Given the description of an element on the screen output the (x, y) to click on. 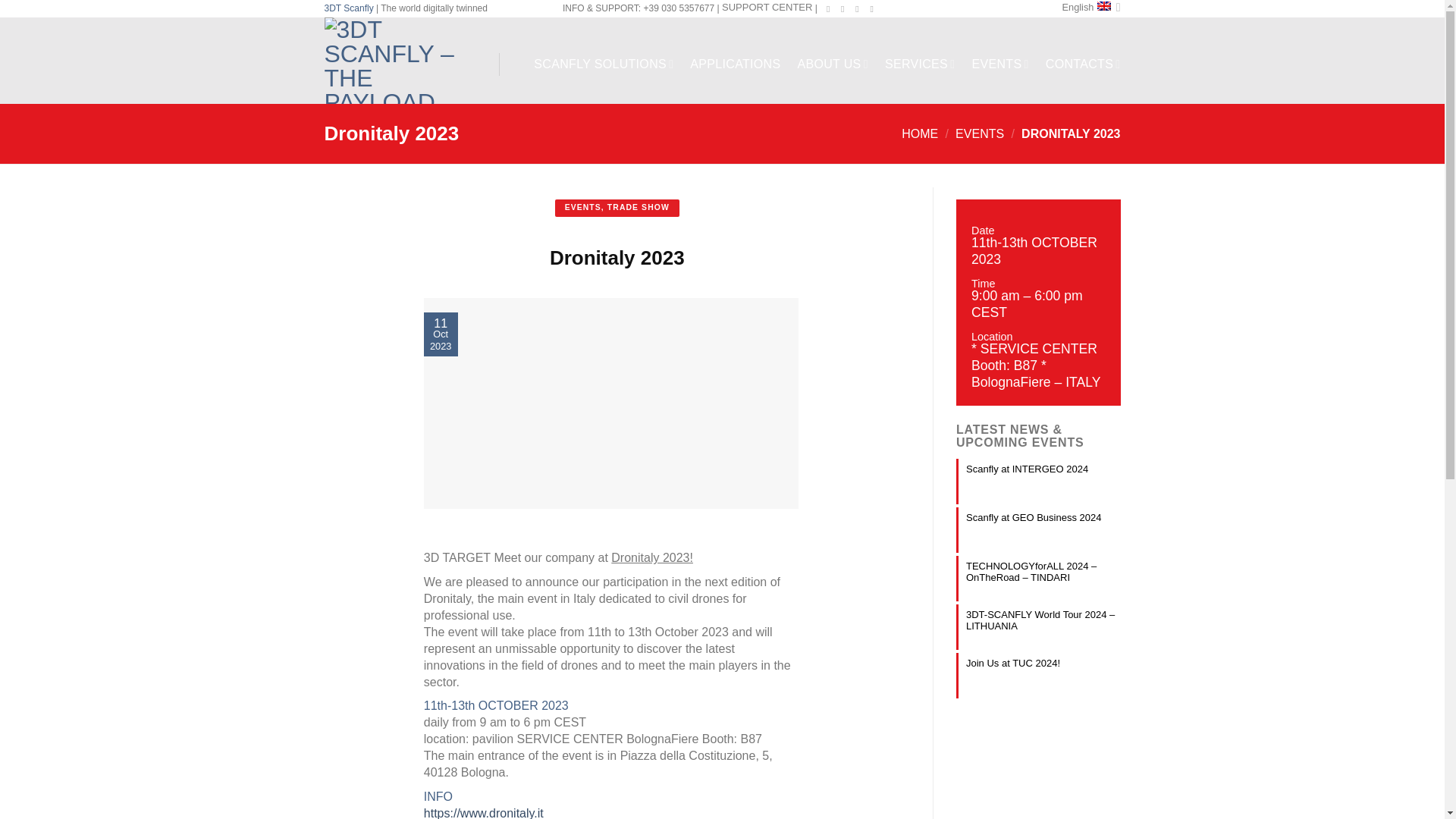
EVENTS (999, 63)
English (1090, 7)
SERVICES (920, 63)
SCANFLY SOLUTIONS (603, 63)
ABOUT US (832, 63)
SUPPORT CENTER (767, 7)
APPLICATIONS (735, 63)
